Given the description of an element on the screen output the (x, y) to click on. 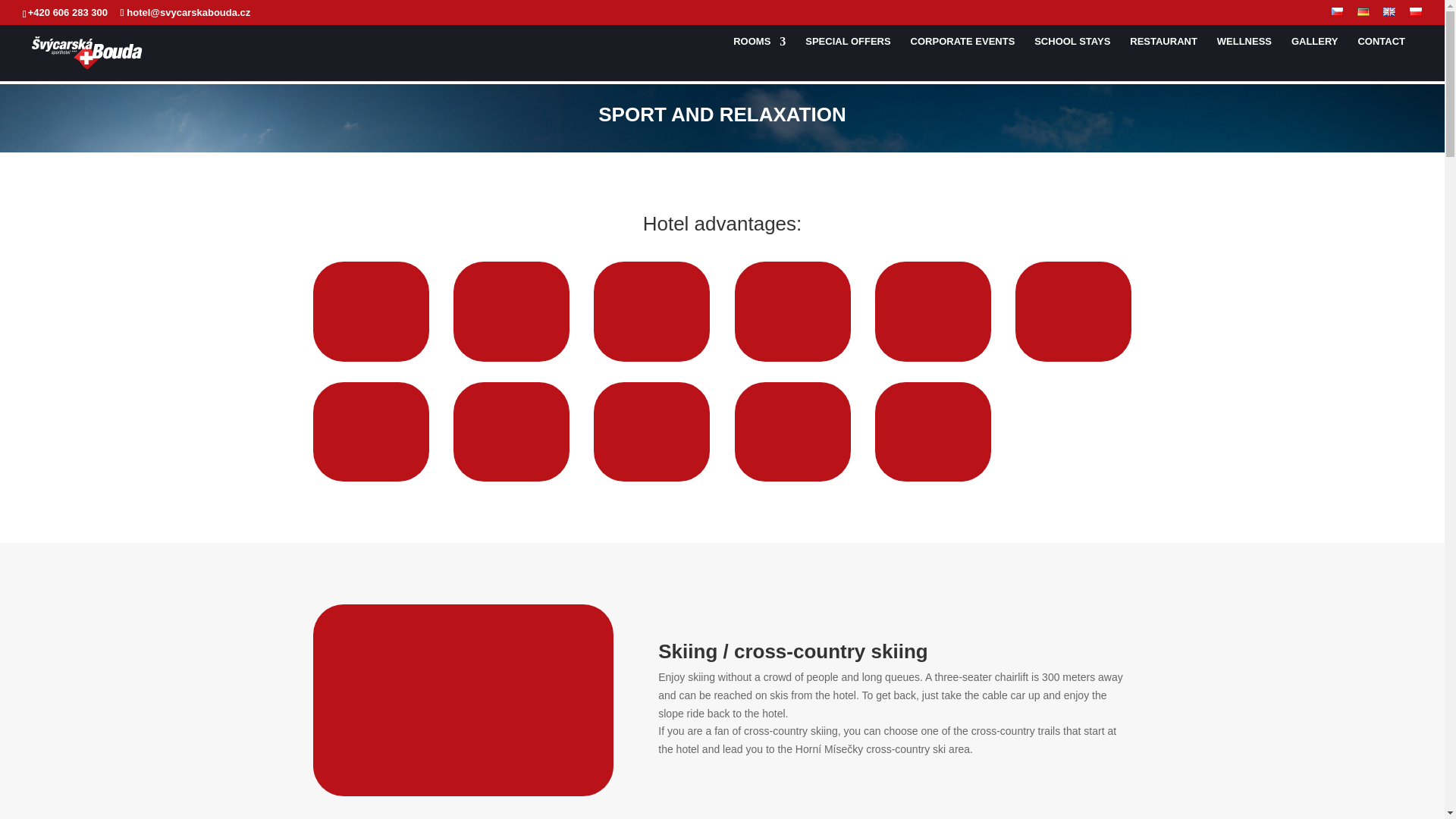
Deutsch (1363, 11)
RESTAURANT (1162, 58)
CONTACT (1380, 58)
CORPORATE EVENTS (962, 58)
SPECIAL OFFERS (847, 58)
Polski (1415, 11)
WELLNESS (1244, 58)
GALLERY (1314, 58)
SCHOOL STAYS (1071, 58)
English (1388, 11)
